Given the description of an element on the screen output the (x, y) to click on. 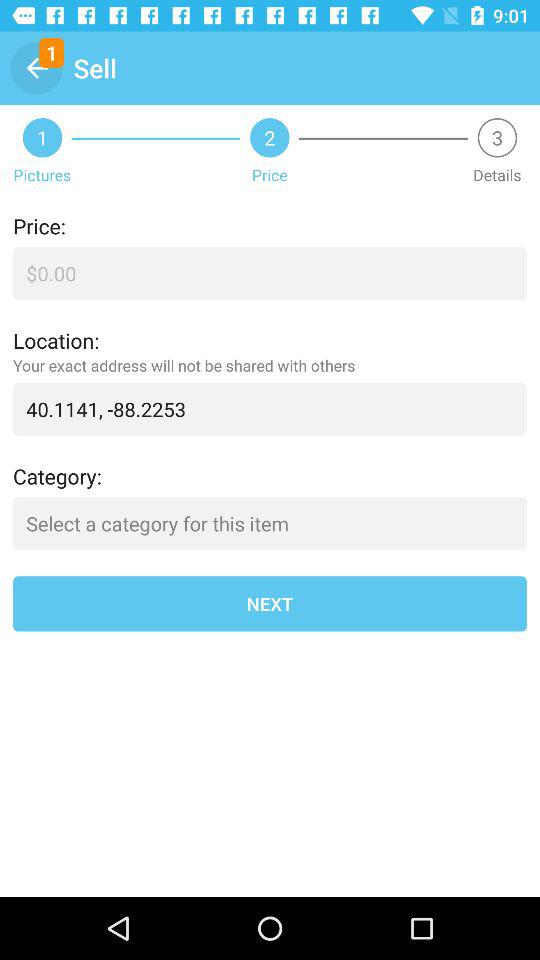
press icon above the category: icon (269, 408)
